Given the description of an element on the screen output the (x, y) to click on. 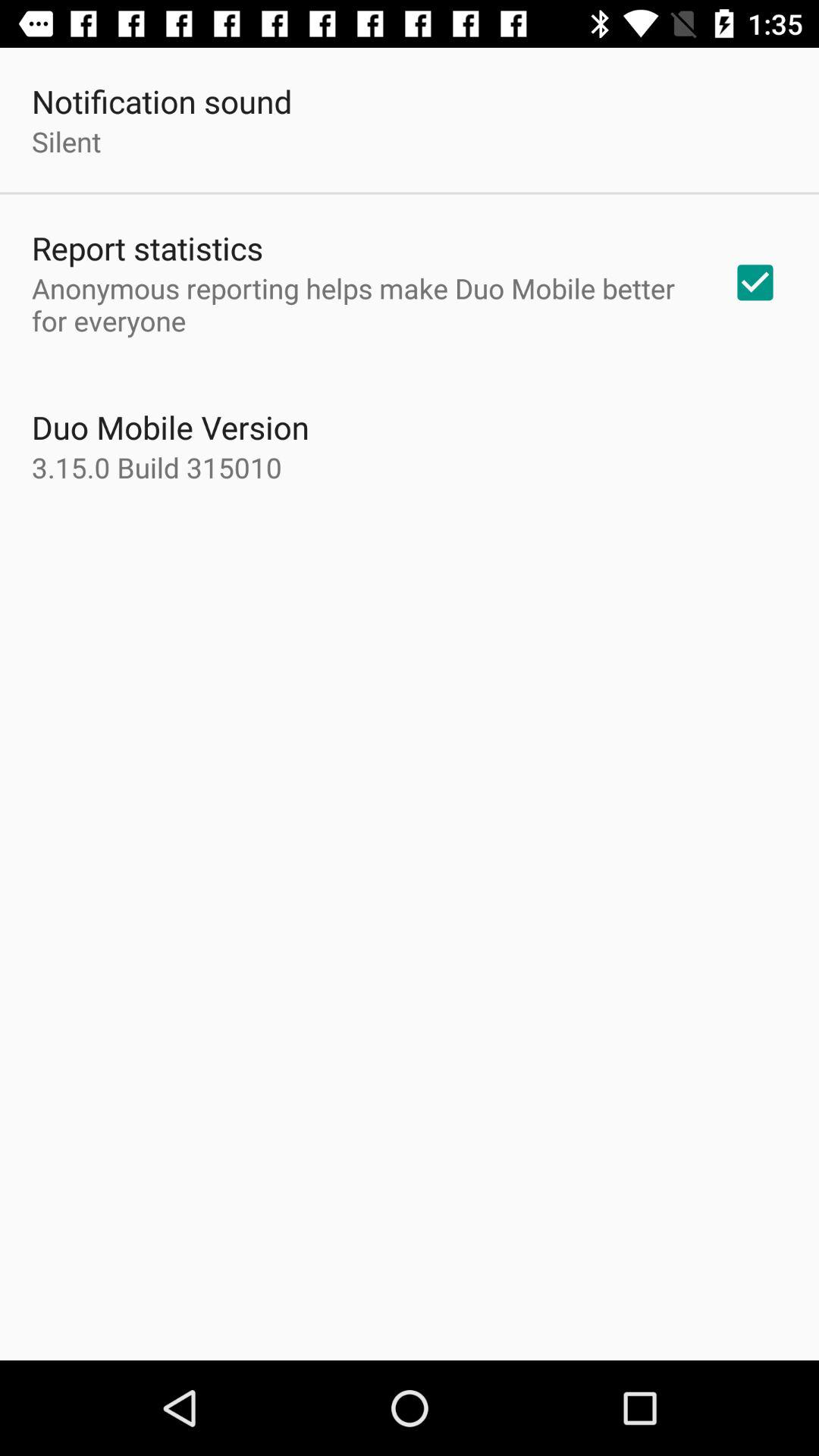
turn on the icon to the right of anonymous reporting helps (755, 282)
